Given the description of an element on the screen output the (x, y) to click on. 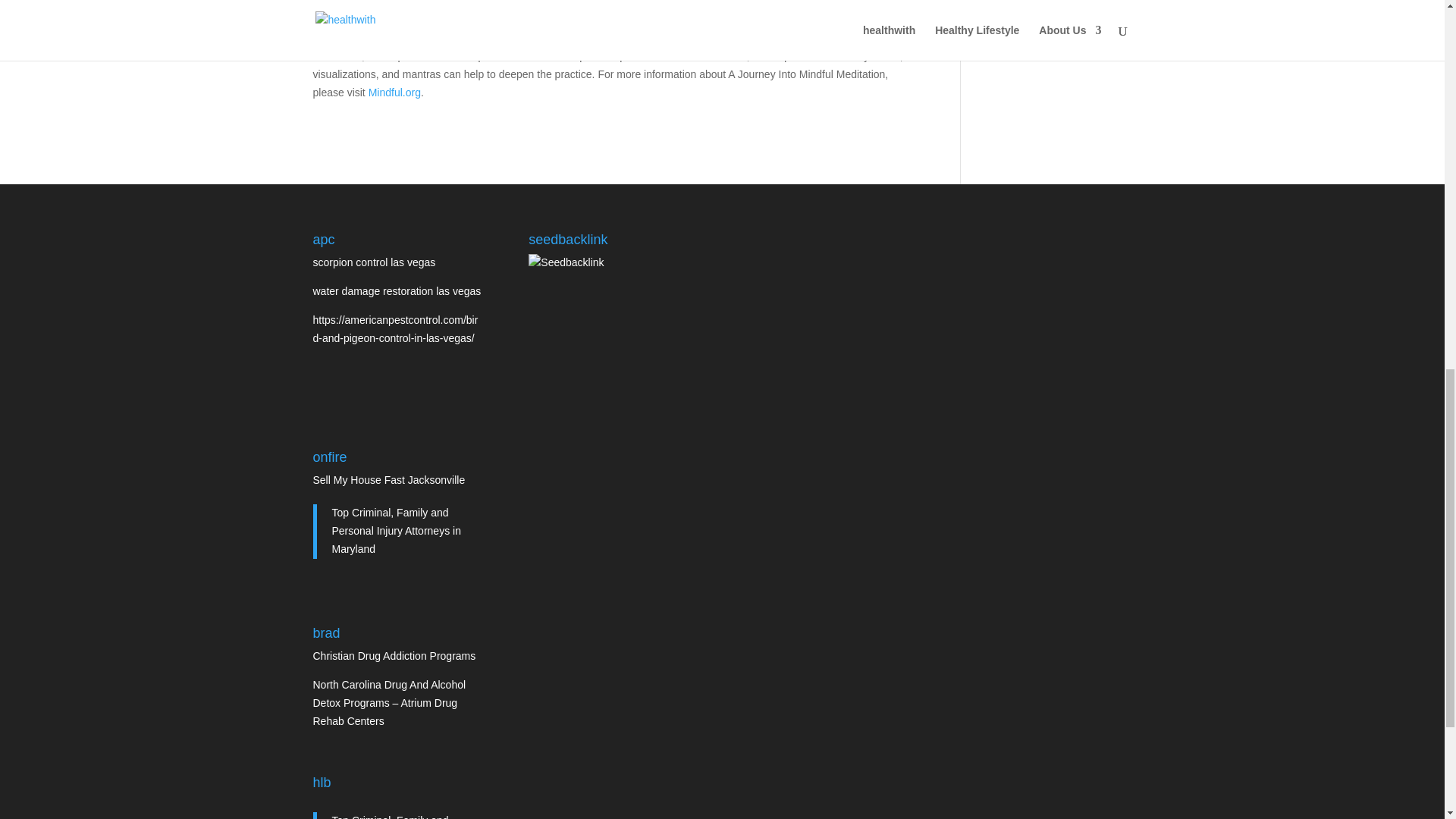
Sell My House Fast Jacksonville (388, 480)
Christian Drug Addiction Programs (394, 655)
water damage restoration las vegas (396, 291)
Mindful.org (394, 92)
Seedbacklink (566, 262)
scorpion control las vegas (374, 262)
